Given the description of an element on the screen output the (x, y) to click on. 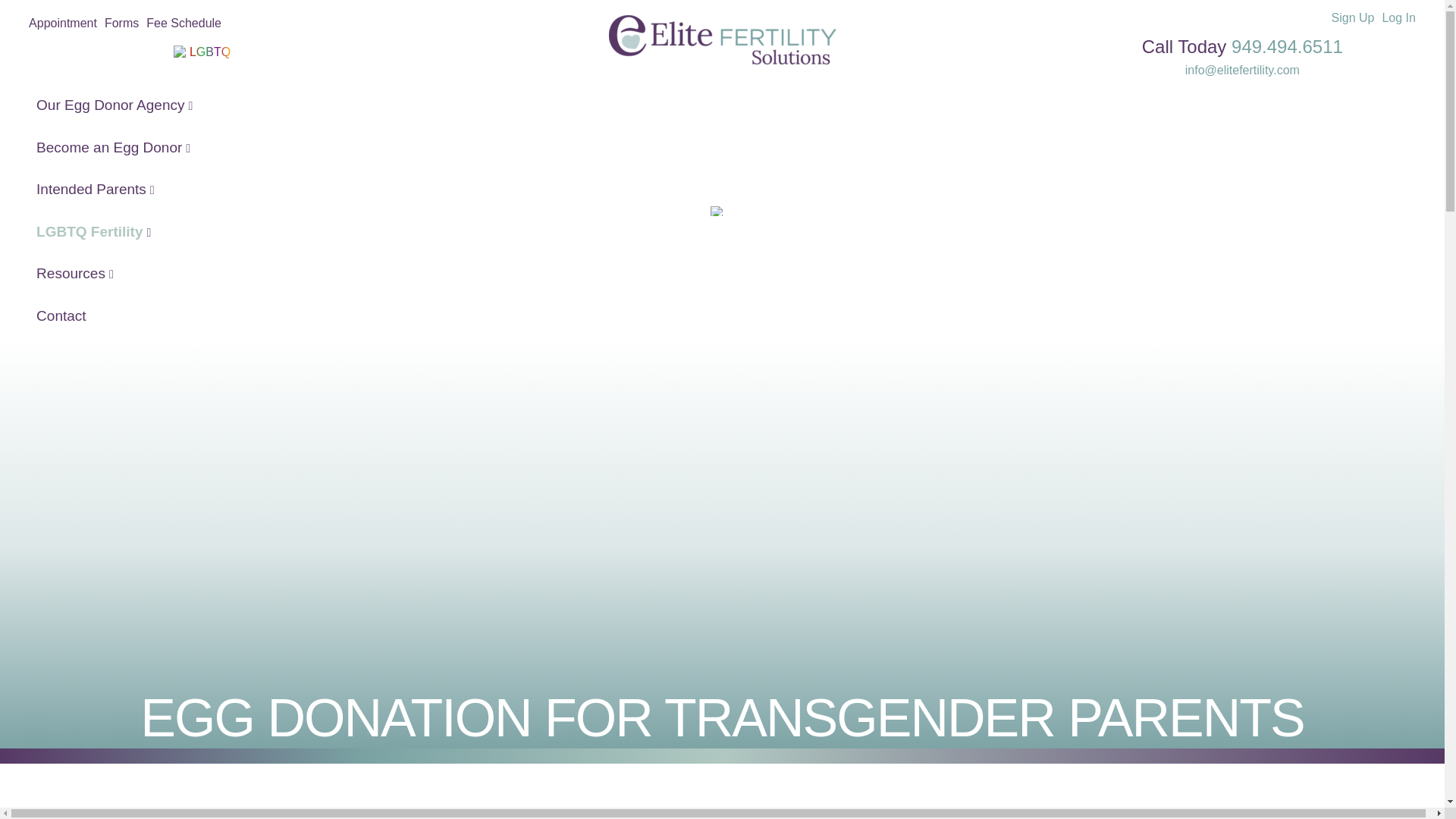
Our Egg Donor Agency (717, 105)
Sign Up (1353, 17)
LGBTQ (209, 51)
949.494.6511 (1286, 46)
Appointment (63, 22)
Elite Fertility (721, 60)
Forms (121, 22)
Log In (1398, 17)
Fee Schedule (184, 22)
